Given the description of an element on the screen output the (x, y) to click on. 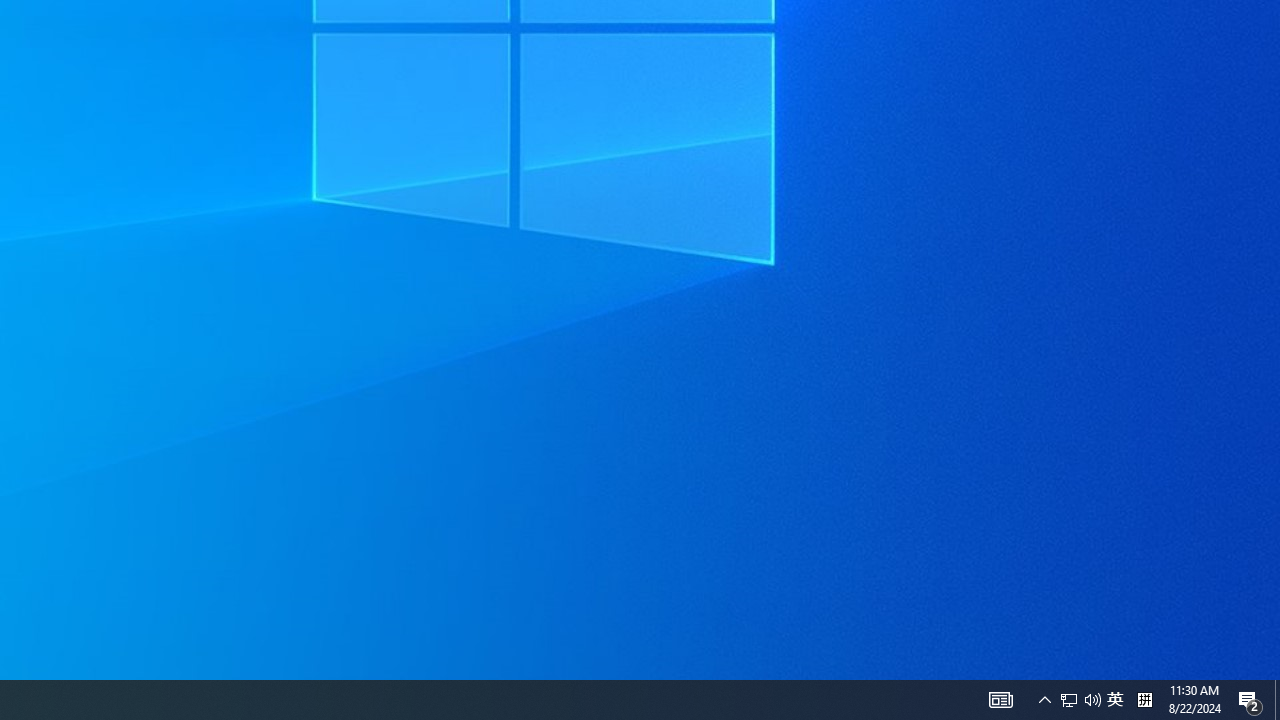
Show desktop (1115, 699)
Q2790: 100% (1277, 699)
Notification Chevron (1092, 699)
Tray Input Indicator - Chinese (Simplified, China) (1044, 699)
Action Center, 2 new notifications (1144, 699)
User Promoted Notification Area (1250, 699)
AutomationID: 4105 (1080, 699)
